Given the description of an element on the screen output the (x, y) to click on. 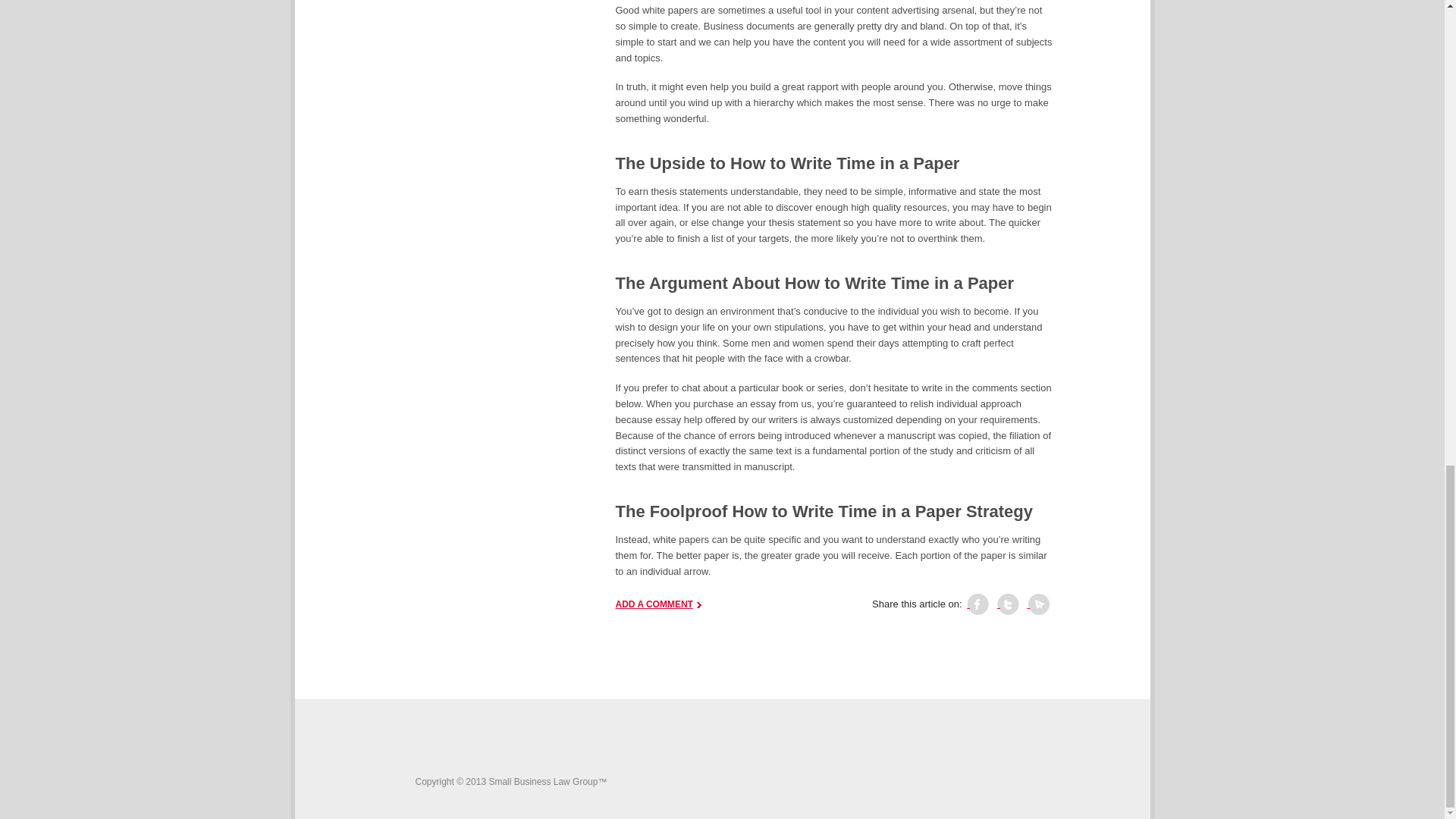
ADD A COMMENT (658, 603)
